Given the description of an element on the screen output the (x, y) to click on. 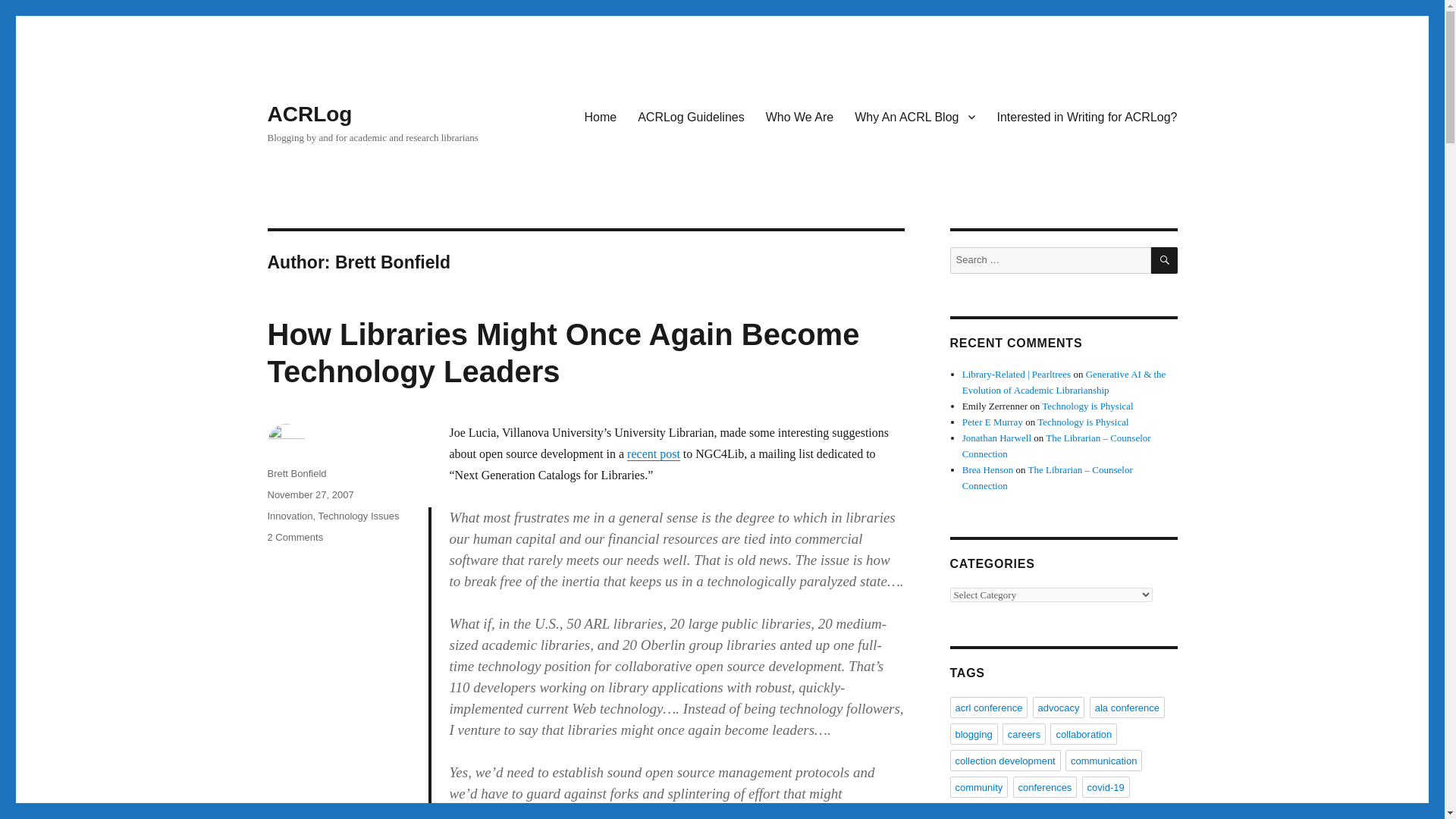
Innovation (289, 515)
Technology Issues (358, 515)
Interested in Writing for ACRLog? (1086, 116)
recent post (653, 453)
November 27, 2007 (309, 494)
ACRLog Guidelines (691, 116)
Home (600, 116)
Who We Are (799, 116)
ACRLog (309, 114)
